Given the description of an element on the screen output the (x, y) to click on. 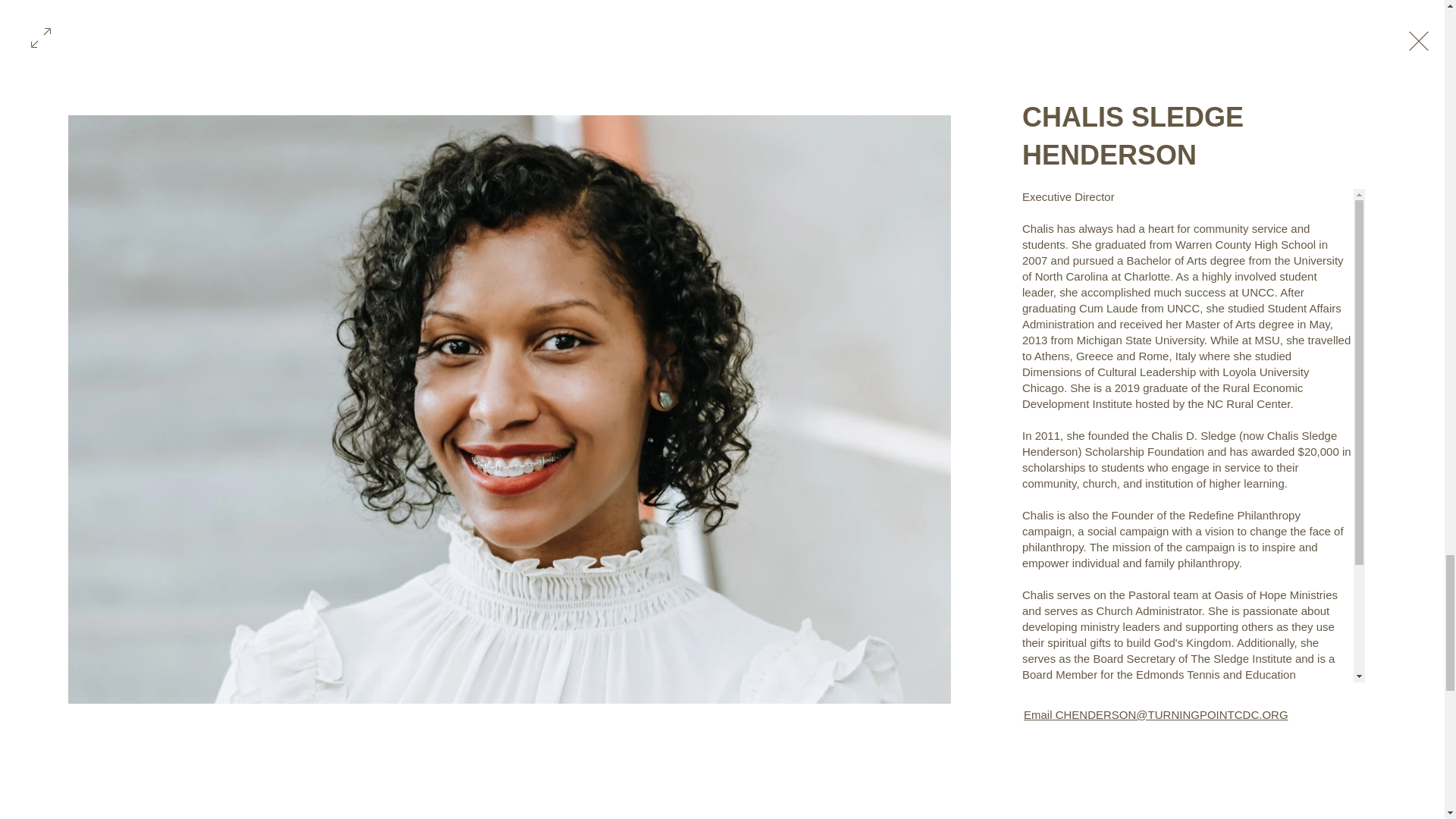
GIVE A GIFT (1001, 11)
GET INVOLVED (628, 11)
